Given the description of an element on the screen output the (x, y) to click on. 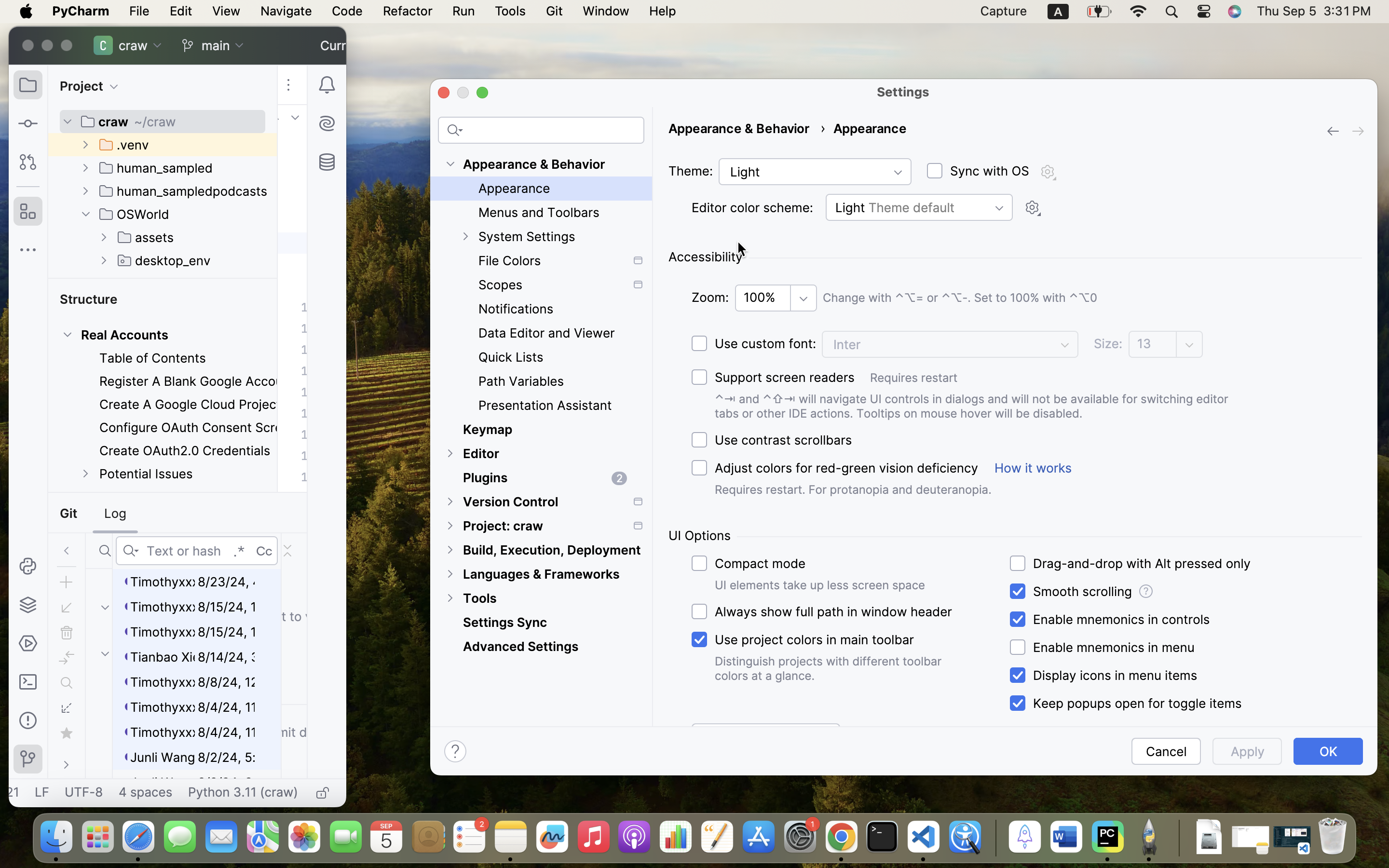
Light Theme default Element type: AXPopUpButton (918, 206)
100% Element type: AXComboBox (775, 297)
Editor color scheme: Element type: AXStaticText (752, 207)
Theme: Element type: AXStaticText (690, 170)
UI Options Element type: AXStaticText (699, 535)
